Given the description of an element on the screen output the (x, y) to click on. 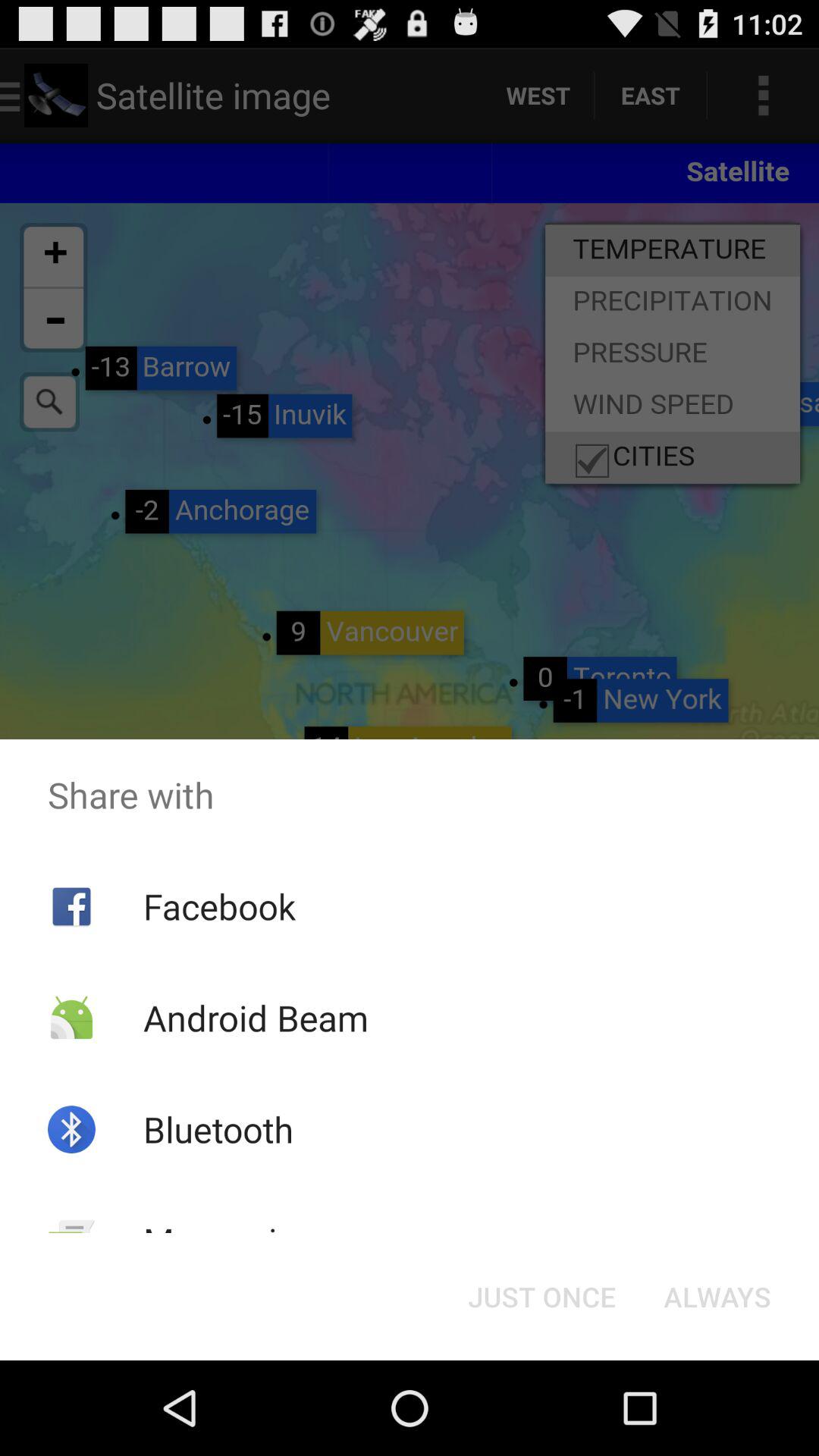
press the icon to the right of just once icon (717, 1296)
